Given the description of an element on the screen output the (x, y) to click on. 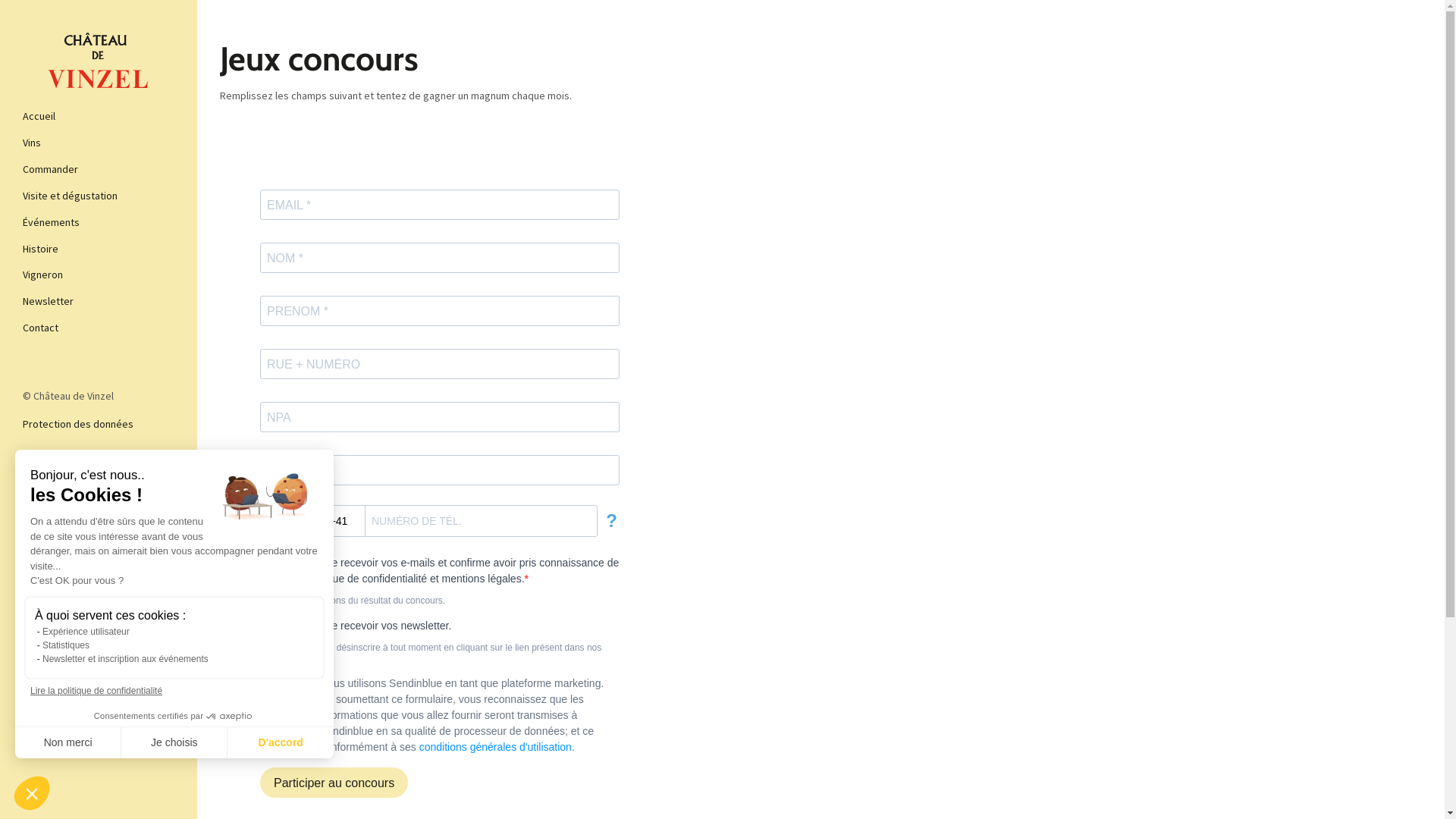
Contact Element type: text (98, 327)
Newsletter Element type: text (98, 301)
Accueil Element type: text (98, 116)
Commander Element type: text (98, 169)
Vigneron Element type: text (98, 274)
Histoire Element type: text (98, 248)
Vins Element type: text (98, 142)
